Given the description of an element on the screen output the (x, y) to click on. 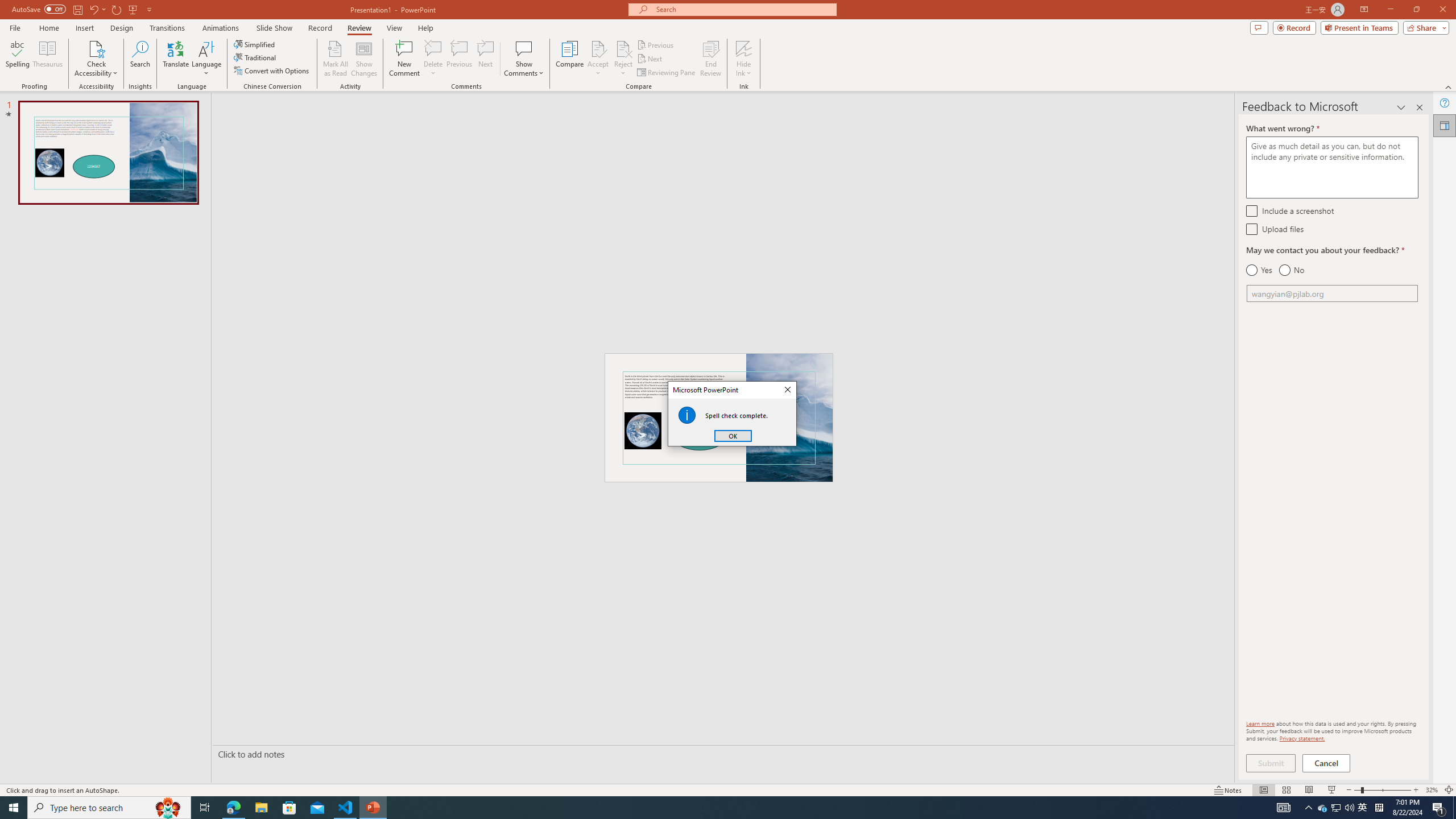
Check Accessibility (95, 58)
File Explorer (261, 807)
Reject (622, 58)
